Given the description of an element on the screen output the (x, y) to click on. 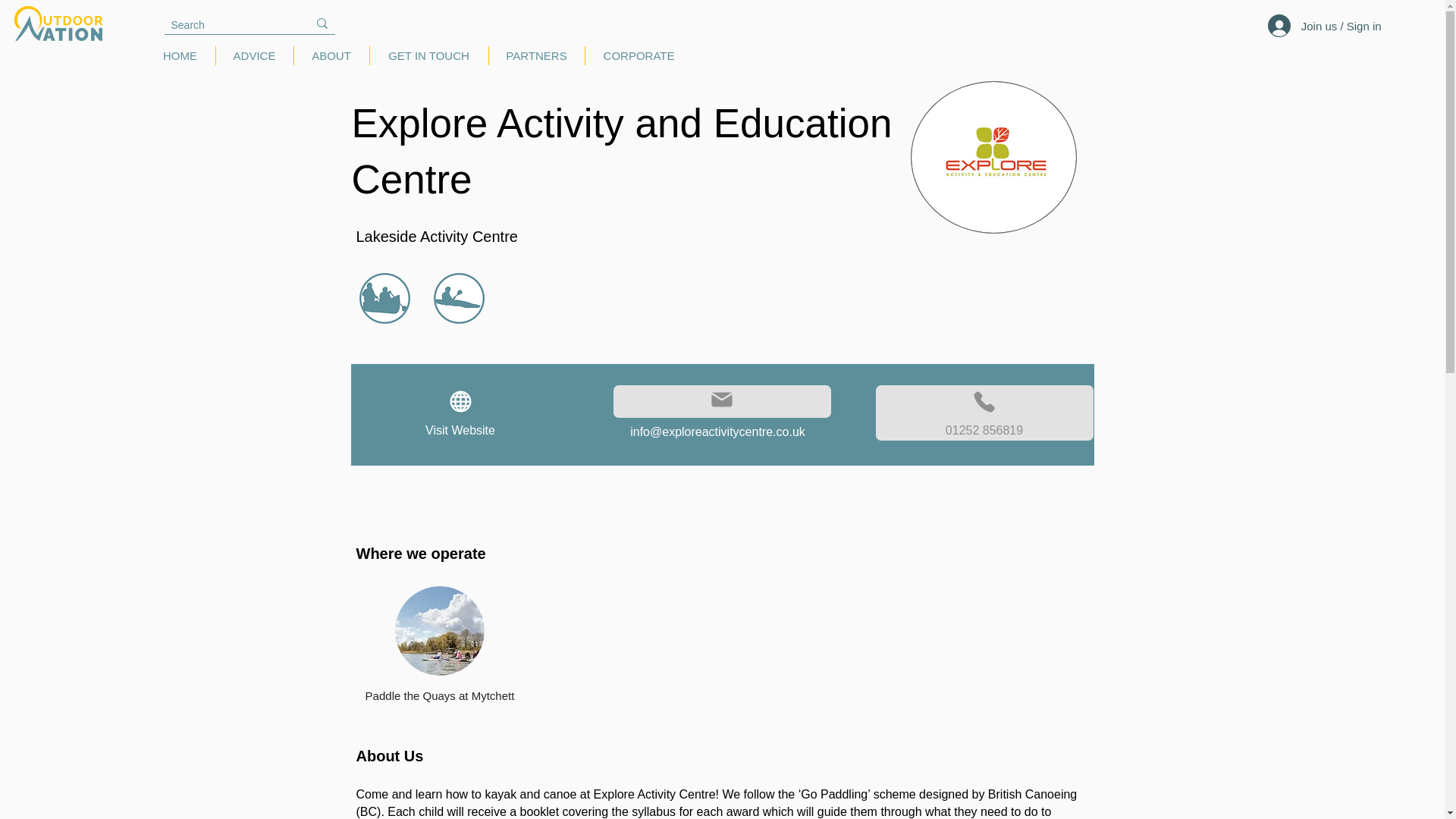
01252 856819 (984, 412)
ADVICE (253, 55)
Explore Activity and Education Centre (992, 157)
Visit Website (460, 412)
GET IN TOUCH (428, 55)
Outdoor Nation - outdoor activities near you! (57, 22)
Kayaking (458, 297)
The Quays in Mychett.jpg (438, 630)
HOME (180, 55)
Canoeing (384, 297)
CORPORATE (639, 55)
ABOUT (331, 55)
